Given the description of an element on the screen output the (x, y) to click on. 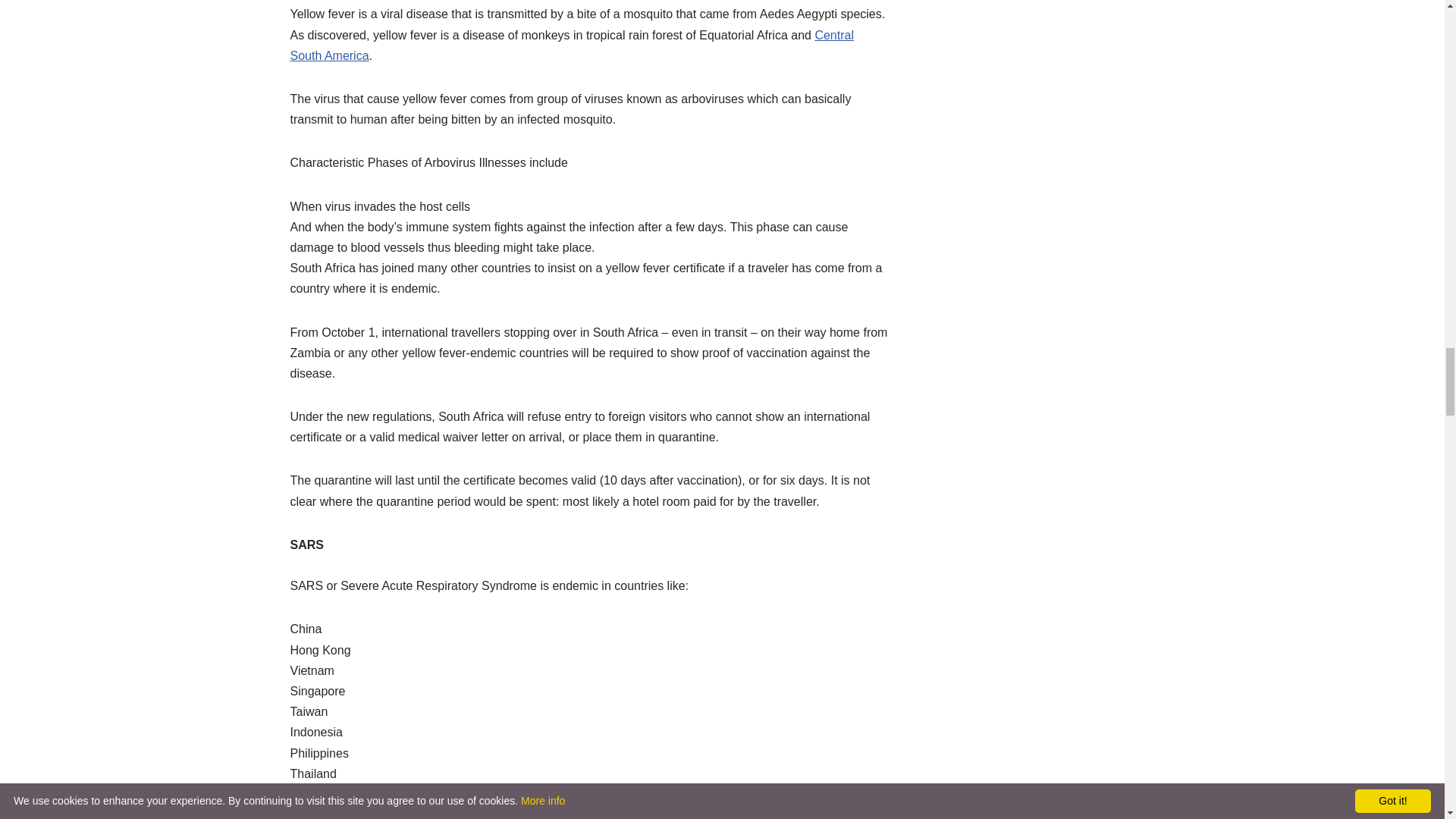
Central South America (571, 45)
